Given the description of an element on the screen output the (x, y) to click on. 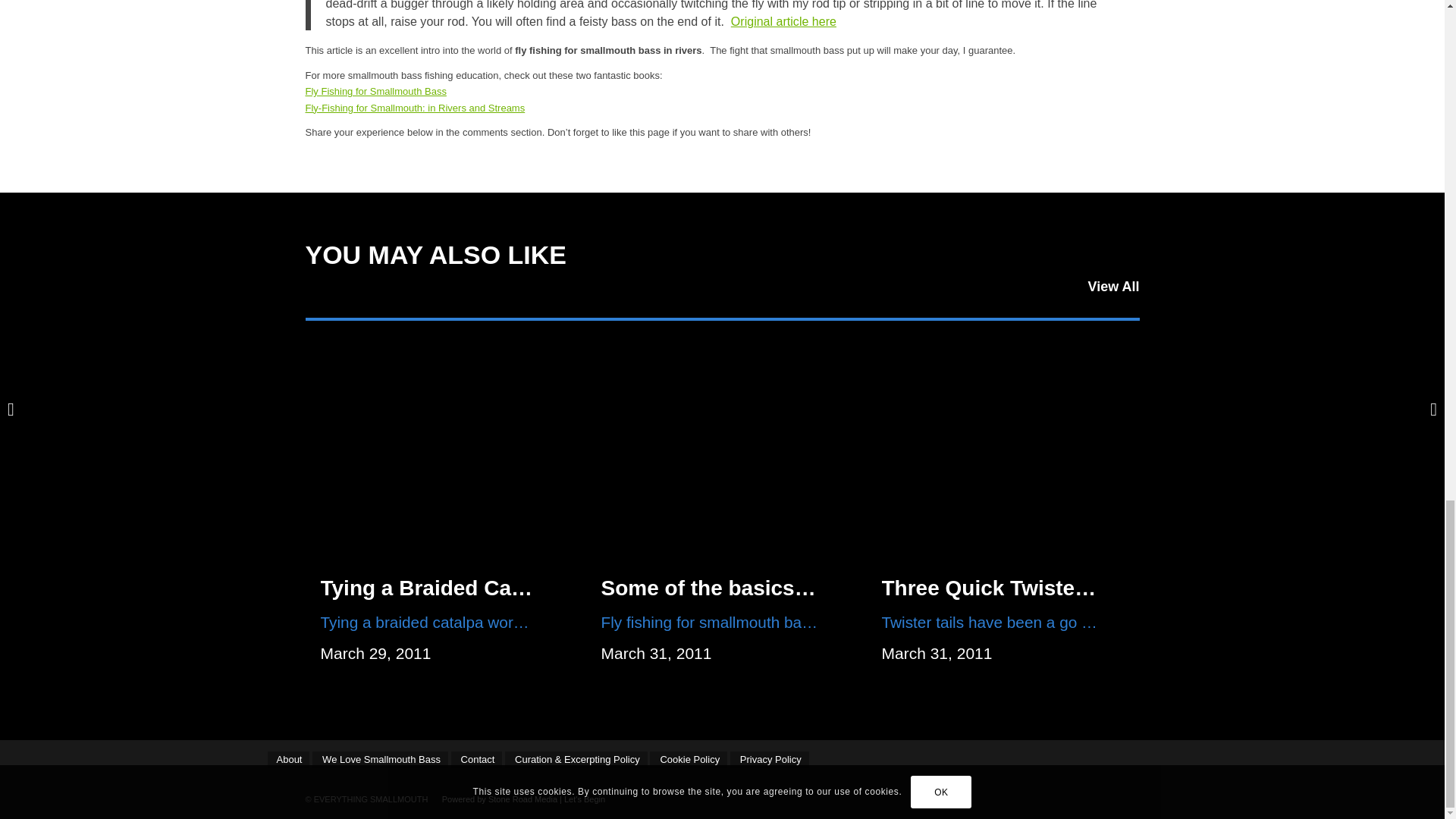
Privacy Policy (769, 759)
Original article here (782, 20)
Contact (476, 759)
Tying a Braided Catalpa Worm Fly Fishing Fly (550, 587)
View All (1112, 286)
Fly Fishing for Smallmouth Bass (374, 91)
Fly-Fishing for Smallmouth: in Rivers and Streams (414, 107)
We Love Smallmouth Bass (380, 759)
About (287, 759)
Cookie Policy (687, 759)
